Given the description of an element on the screen output the (x, y) to click on. 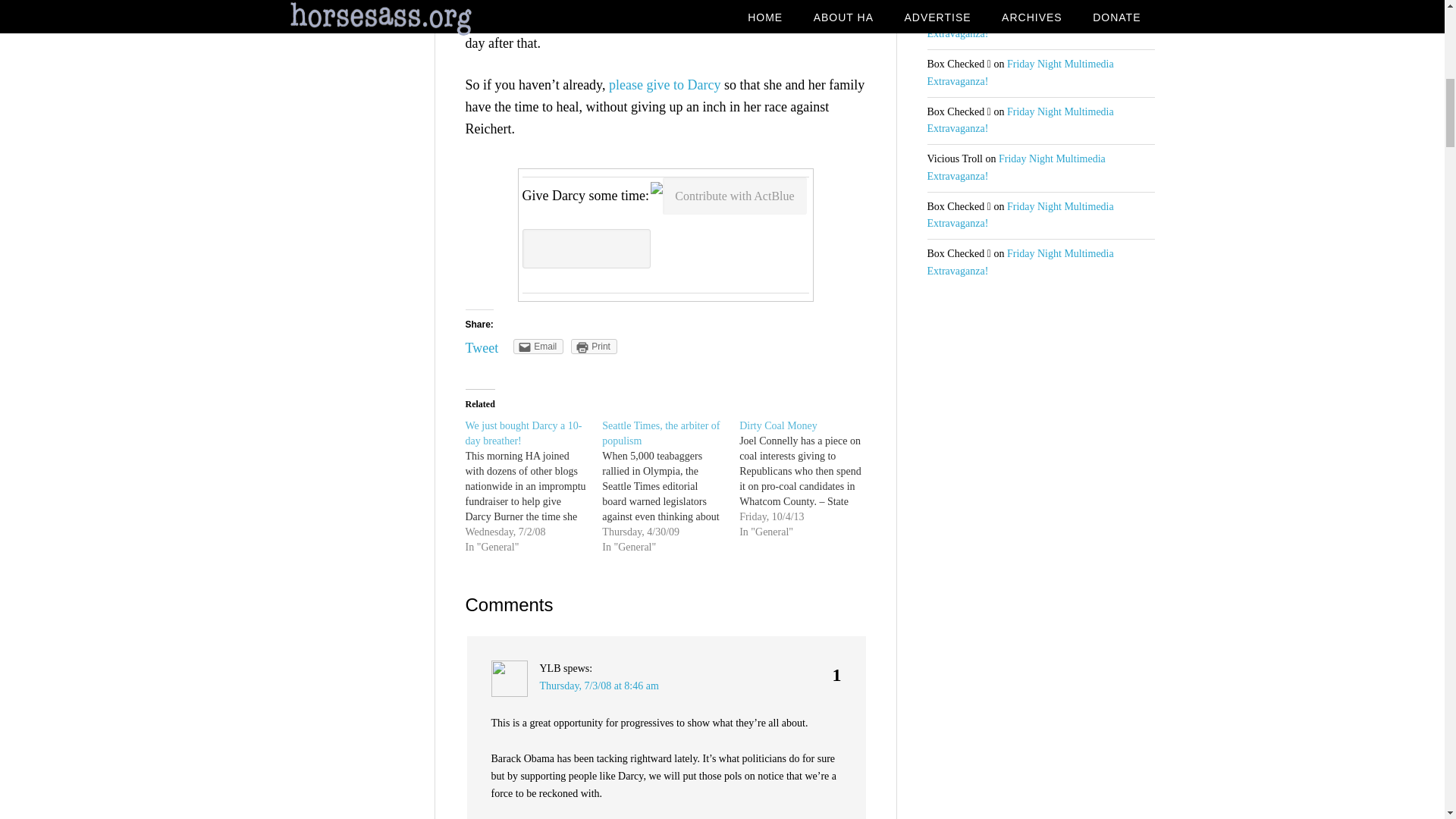
Dirty Coal Money (777, 425)
Tweet (482, 347)
please give to Darcy (664, 84)
We just bought Darcy a 10-day breather! (523, 433)
Seattle Times, the arbiter of populism (660, 433)
Dirty Coal Money (807, 478)
We just bought Darcy a 10-day breather! (523, 433)
We just bought Darcy a 10-day breather! (533, 486)
Seattle Times, the arbiter of populism (670, 486)
Seattle Times, the arbiter of populism (660, 433)
Click to print (593, 346)
Email (538, 346)
Dirty Coal Money (777, 425)
Click to email a link to a friend (538, 346)
Print (593, 346)
